Given the description of an element on the screen output the (x, y) to click on. 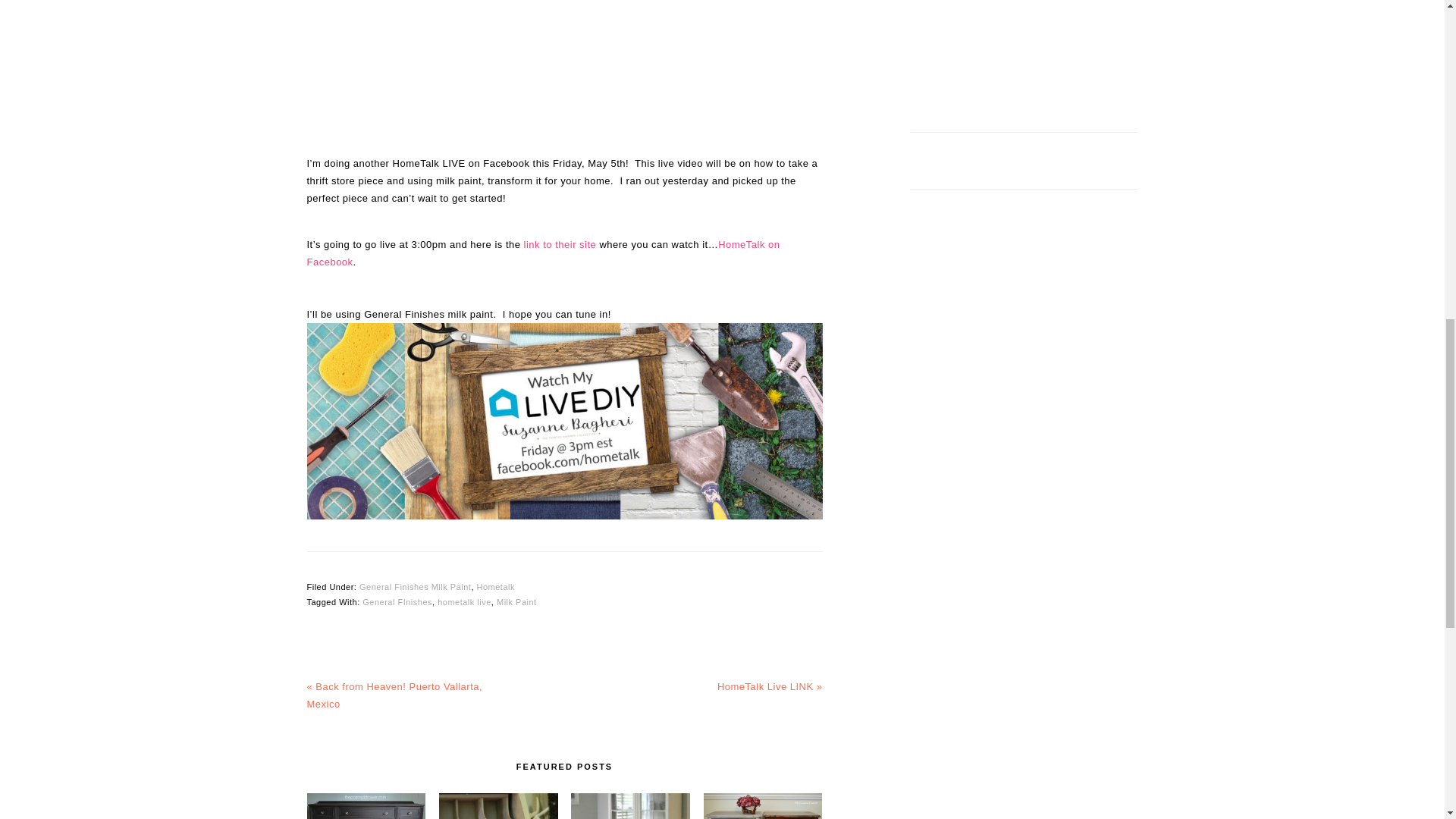
General FInishes (397, 601)
Hometalk (494, 586)
Advertisement (1023, 52)
Milk Paint (516, 601)
HomeTalk on Facebook (541, 253)
General Finishes Milk Paint (414, 586)
link to their site (558, 244)
hometalk live (465, 601)
Advertisement (563, 74)
